Given the description of an element on the screen output the (x, y) to click on. 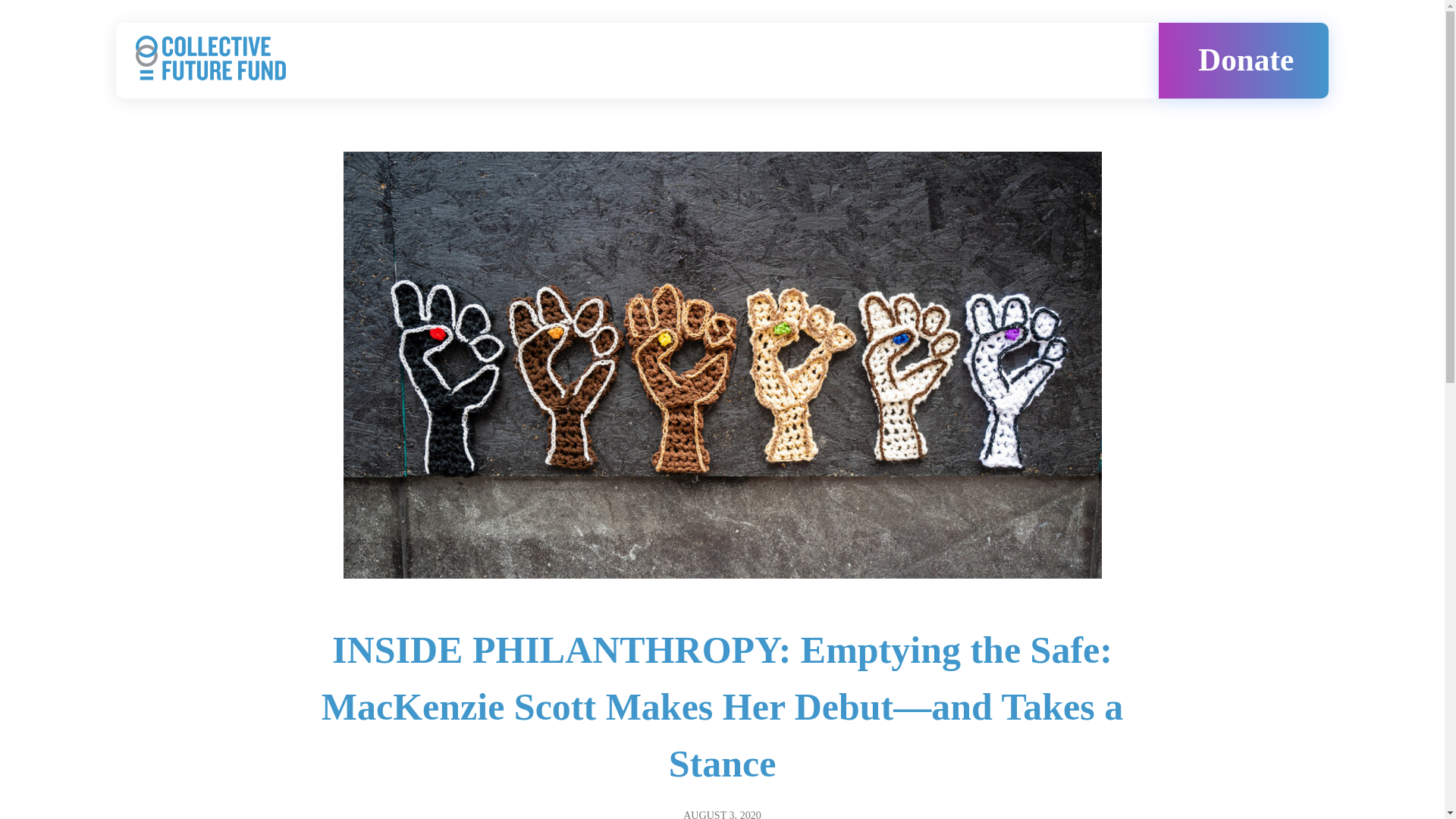
Submit (711, 800)
Read the full piece here. (371, 212)
Submit (711, 800)
